Given the description of an element on the screen output the (x, y) to click on. 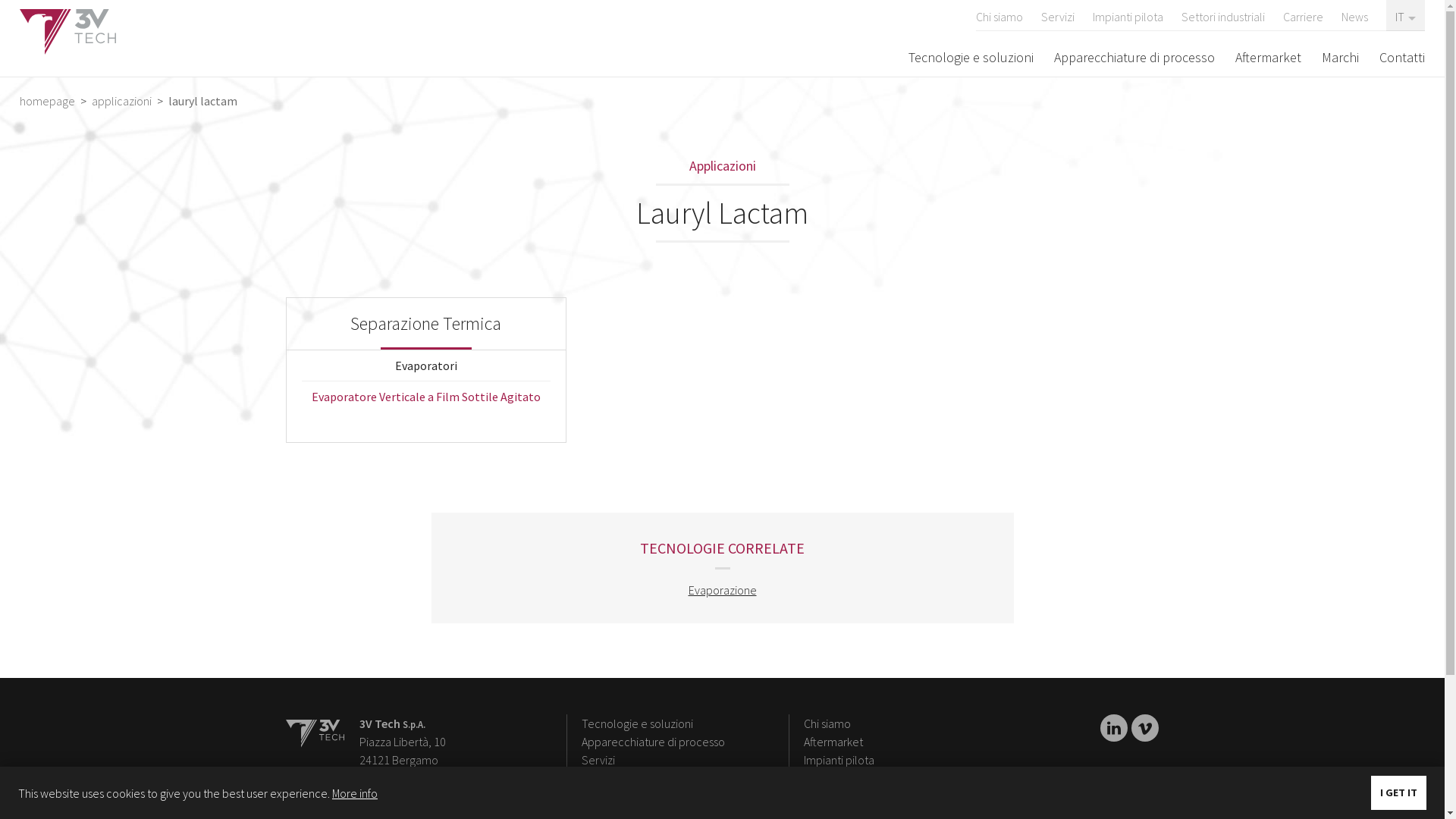
lauryl lactam Element type: text (201, 100)
Chi siamo Element type: text (998, 15)
Impianti pilota Element type: text (838, 759)
Apparecchiature di processo Element type: text (652, 741)
3V Tech Element type: hover (67, 31)
LinkedIn Element type: hover (1113, 727)
Settori industriali Element type: text (1222, 15)
applicazioni Element type: text (121, 100)
Impianti pilota Element type: text (1127, 15)
Evaporazione Element type: text (722, 589)
Settori industriali Element type: text (845, 777)
Tecnologie e soluzioni Element type: text (637, 723)
Marchi Element type: text (1339, 56)
Marchi Element type: text (597, 777)
Carriere Element type: text (1303, 15)
Contatti Element type: text (1401, 56)
LinkedIn Element type: hover (1144, 728)
Applicazioni Element type: text (721, 166)
Servizi Element type: text (598, 759)
More info Element type: text (354, 792)
Evaporatore Verticale a Film Sottile Agitato Element type: text (425, 396)
Servizi Element type: text (1057, 15)
Aftermarket Element type: text (1268, 56)
Chi siamo Element type: text (826, 723)
homepage Element type: text (48, 100)
Tecnologie e soluzioni Element type: text (970, 56)
+39 035 0761 311 Element type: text (401, 795)
Aftermarket Element type: text (832, 741)
News Element type: text (816, 795)
3V Tech Element type: hover (314, 733)
I GET IT Element type: text (1398, 792)
Contatti Element type: text (601, 795)
Apparecchiature di processo Element type: text (1134, 56)
News Element type: text (1354, 15)
